Given the description of an element on the screen output the (x, y) to click on. 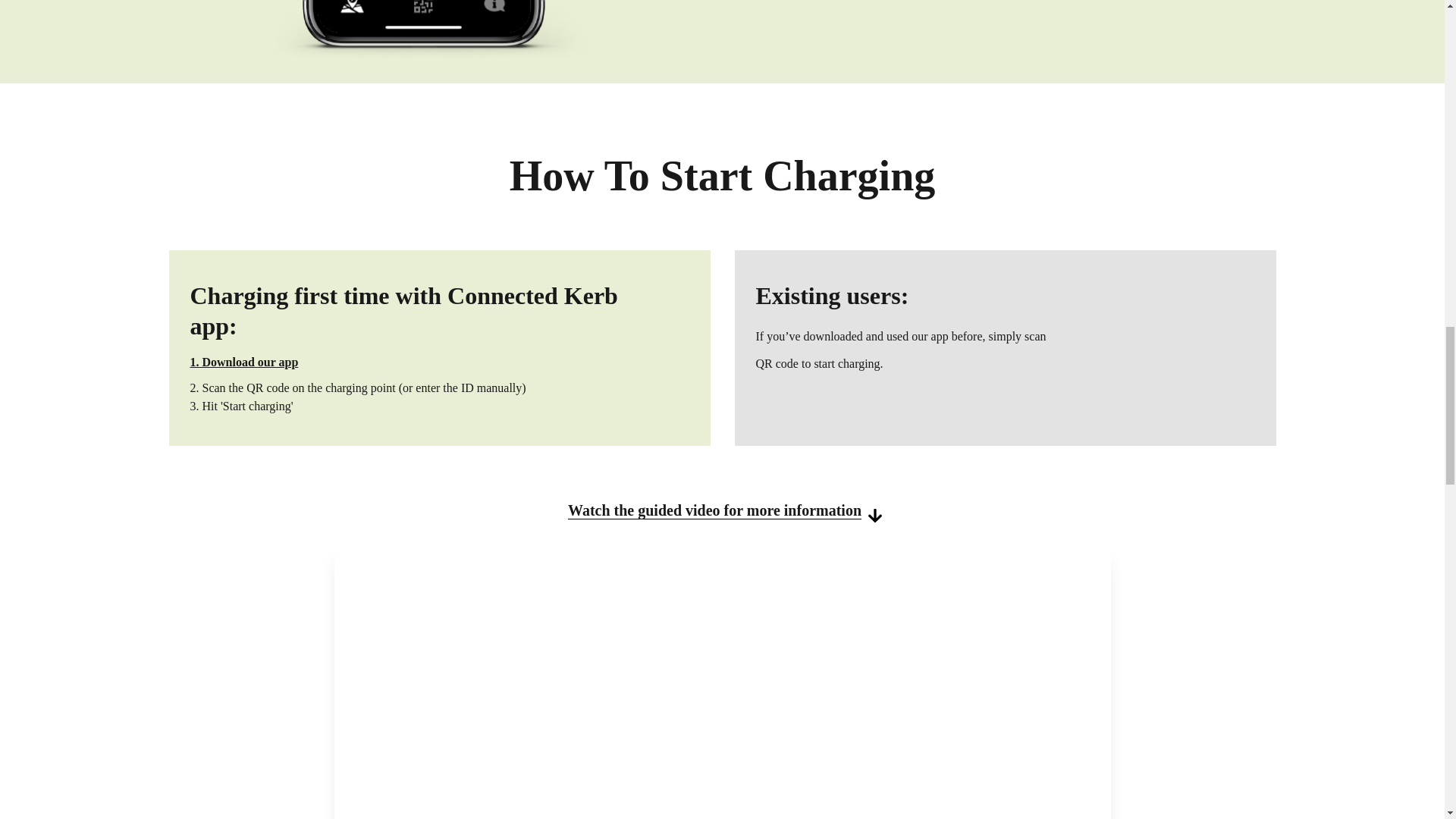
1. Download our app (243, 361)
